Given the description of an element on the screen output the (x, y) to click on. 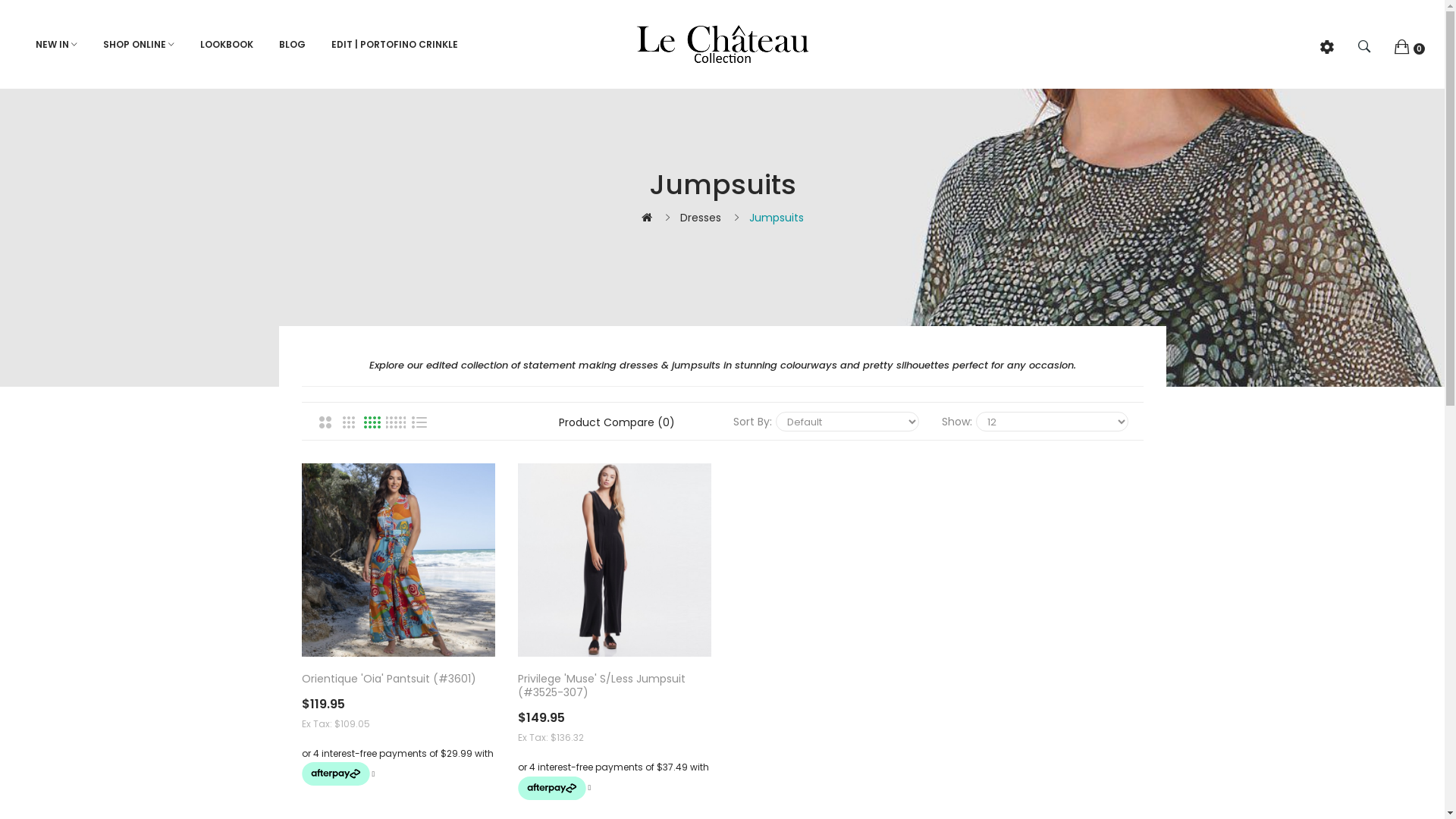
3 Element type: text (347, 422)
LOOKBOOK Element type: text (226, 44)
2 Element type: text (325, 422)
Orientique 'Oia' Pantsuit (#3601) Element type: hover (398, 559)
4 Element type: text (372, 422)
NEW IN Element type: text (56, 44)
Orientique 'Oia' Pantsuit (#3601) Element type: text (398, 678)
EDIT | PORTOFINO CRINKLE Element type: text (394, 44)
Privilege 'Muse' S/Less Jumpsuit (#3525-307) Element type: hover (613, 559)
Jumpsuits Element type: text (776, 217)
5 Element type: text (394, 422)
BLOG Element type: text (292, 44)
0 Element type: text (1407, 45)
Dresses Element type: text (699, 217)
Product Compare (0) Element type: text (617, 422)
SHOP ONLINE Element type: text (138, 44)
Privilege 'Muse' S/Less Jumpsuit (#3525-307) Element type: text (613, 685)
